Given the description of an element on the screen output the (x, y) to click on. 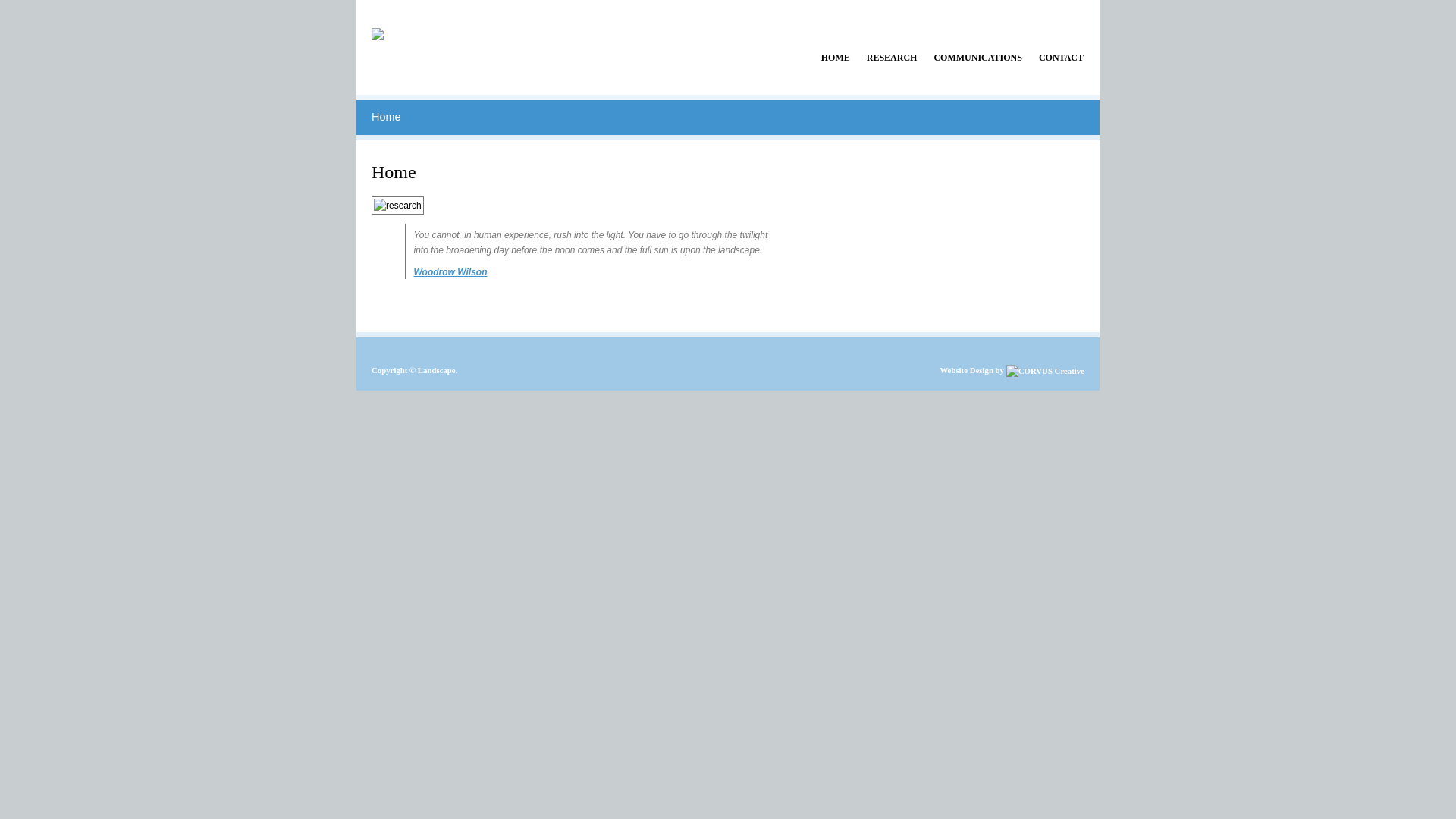
Home Element type: text (393, 172)
WooThemes - Premium WordPress Themes Element type: hover (1045, 369)
COMMUNICATIONS Element type: text (977, 57)
Woodrow Wilson Element type: text (450, 271)
Website Design Element type: text (965, 369)
CONTACT Element type: text (1060, 57)
HOME Element type: text (835, 57)
Home Element type: hover (377, 27)
RESEARCH Element type: text (891, 57)
Home Element type: text (385, 116)
